Given the description of an element on the screen output the (x, y) to click on. 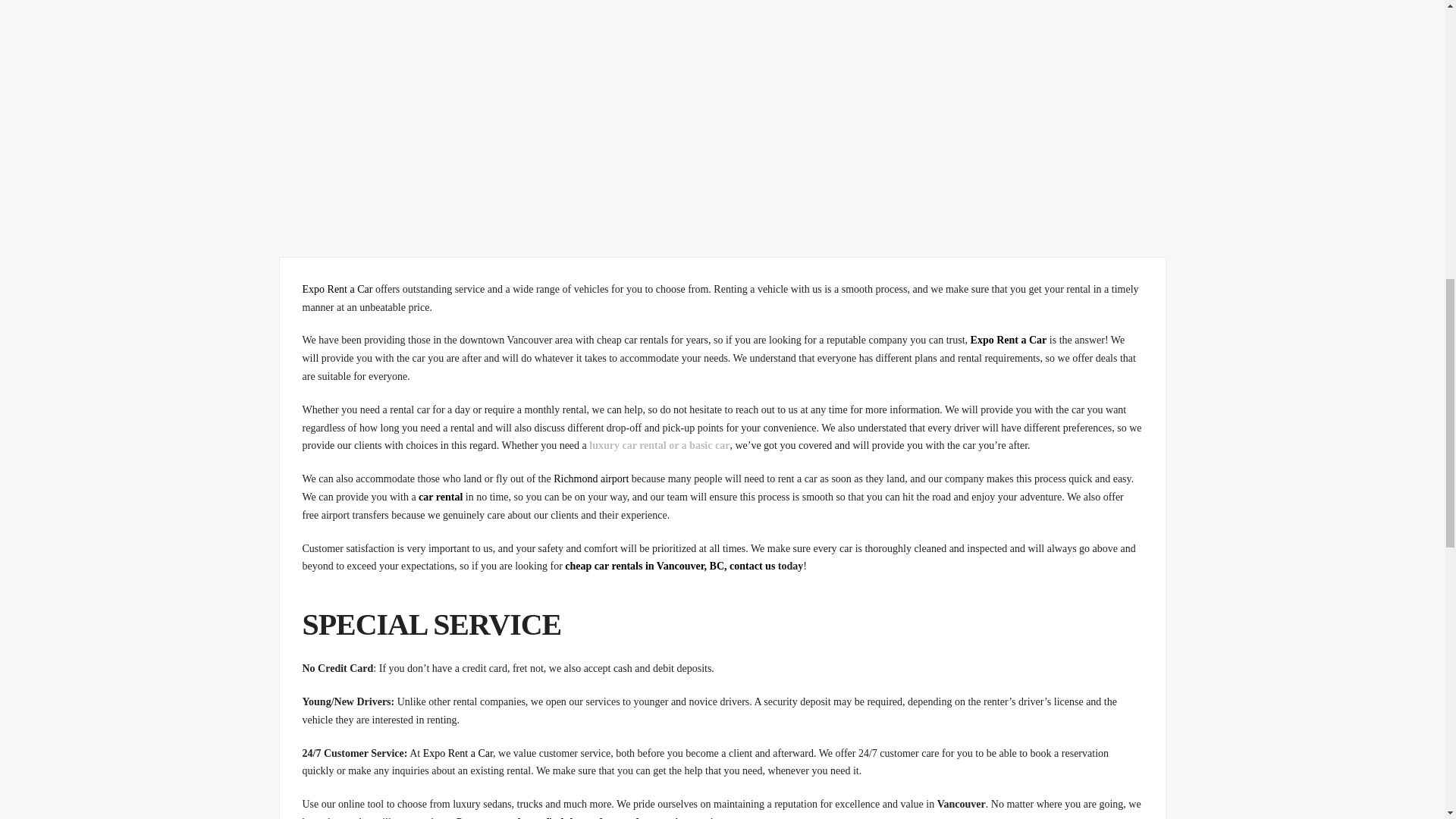
luxury car rental or a basic car (659, 445)
Expo Rent a Car (1008, 339)
Richmond airport (590, 478)
car rental (441, 496)
